Given the description of an element on the screen output the (x, y) to click on. 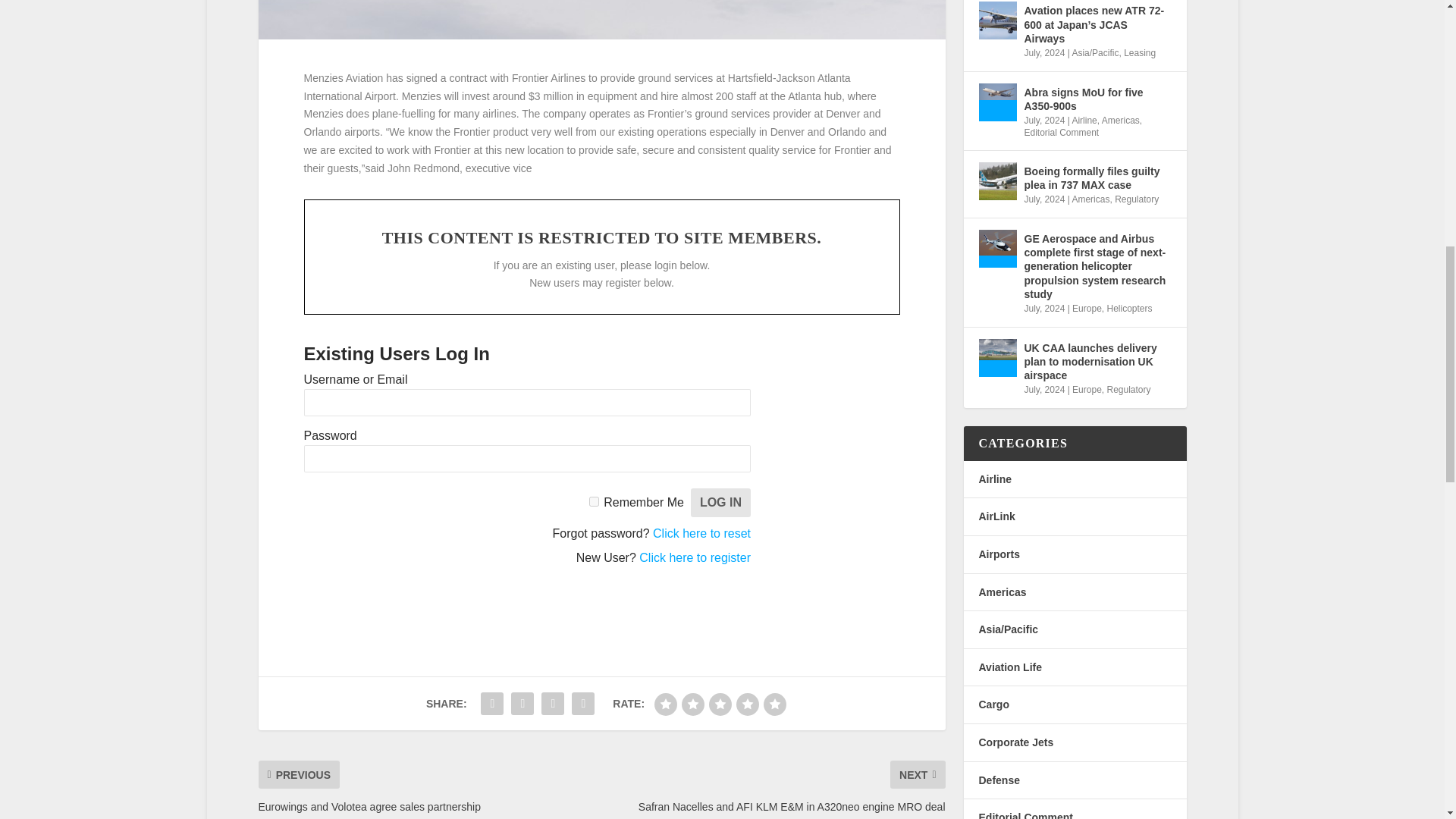
good (747, 703)
bad (665, 703)
regular (720, 703)
poor (692, 703)
forever (593, 501)
Log In (720, 502)
gorgeous (774, 703)
